Given the description of an element on the screen output the (x, y) to click on. 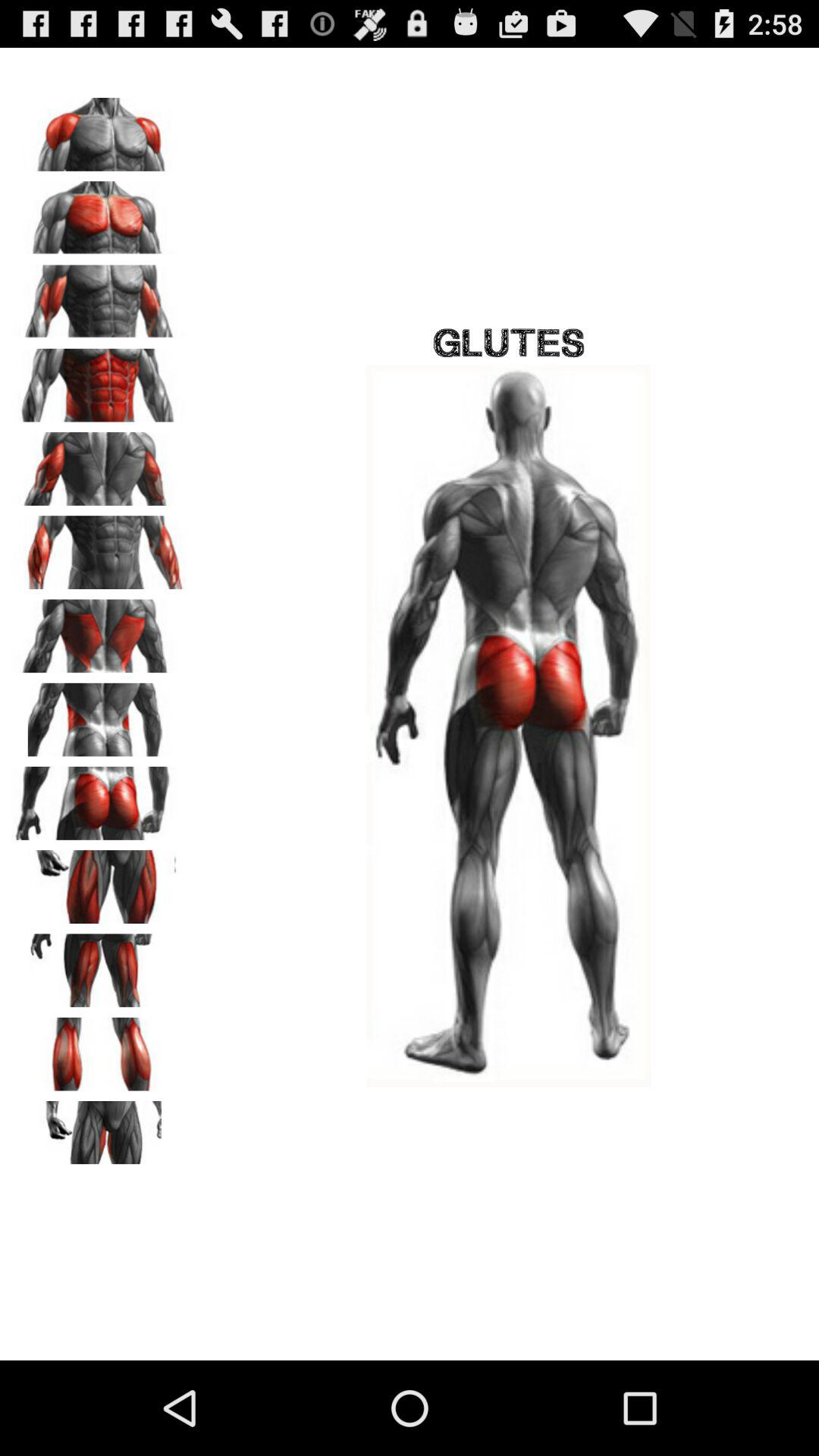
body part selection (99, 1132)
